Given the description of an element on the screen output the (x, y) to click on. 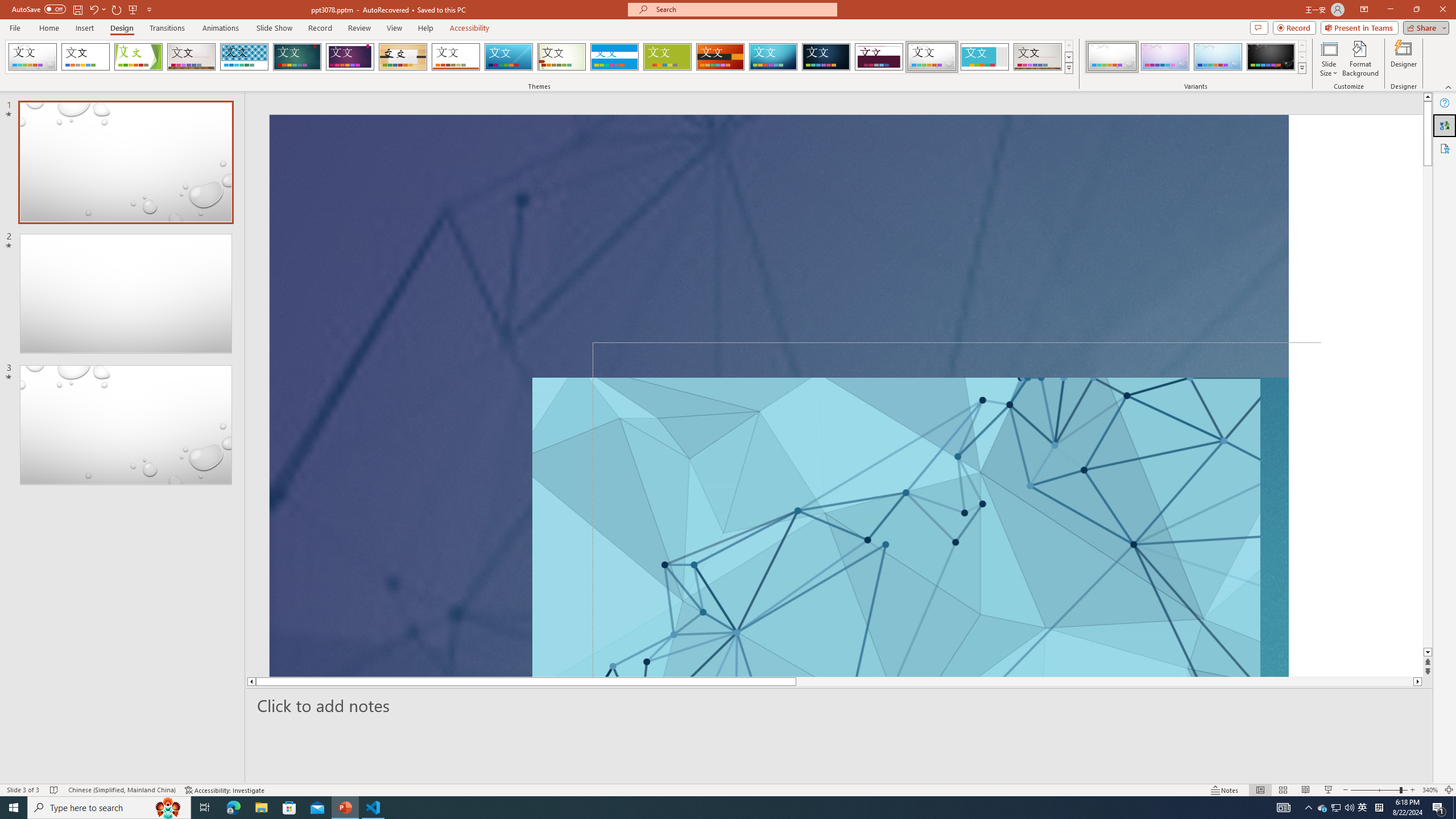
Slice (508, 56)
Slide Size (1328, 58)
Circuit (772, 56)
Berlin (720, 56)
Facet (138, 56)
An abstract genetic concept (761, 395)
